Given the description of an element on the screen output the (x, y) to click on. 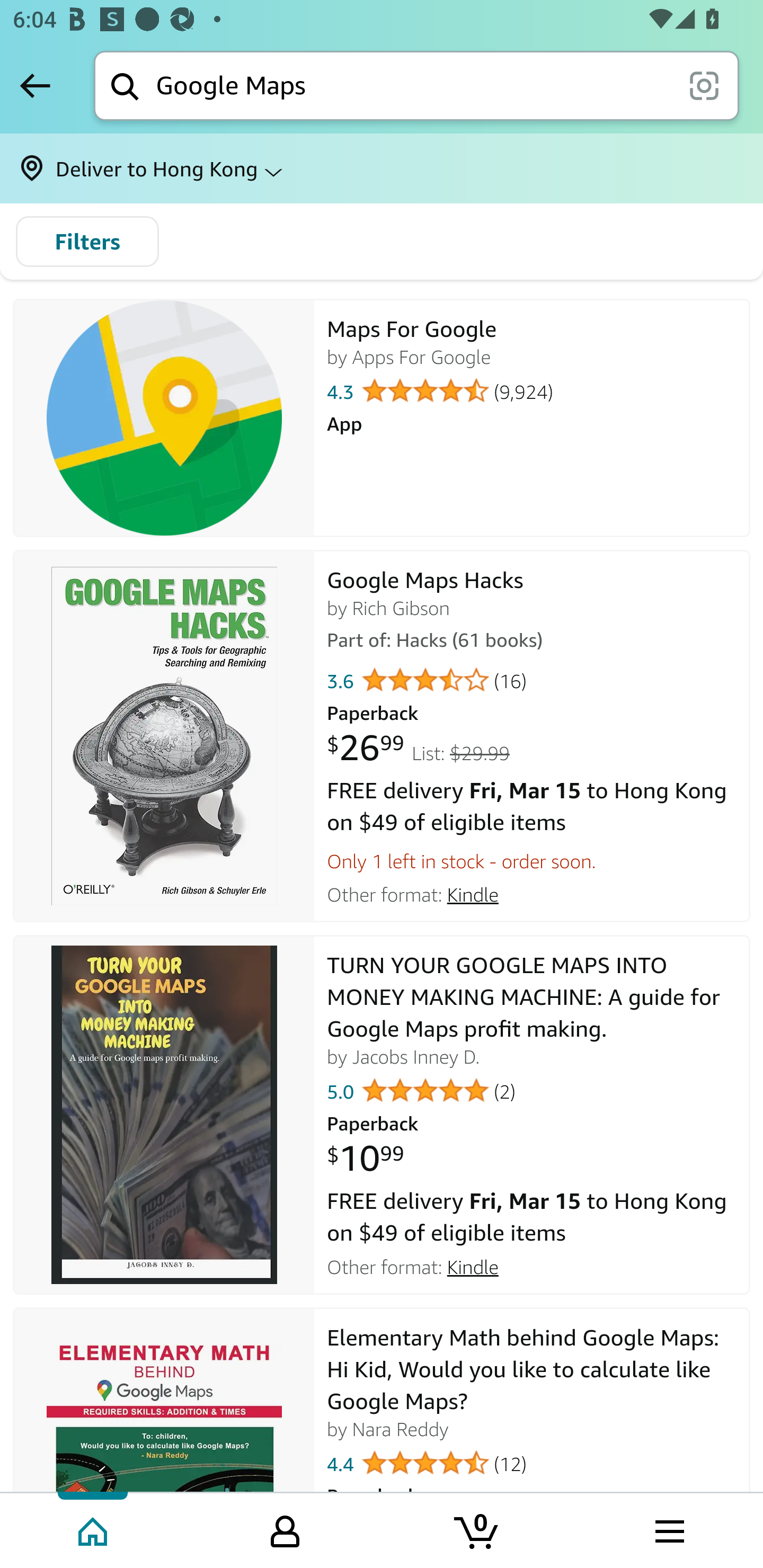
Back (35, 85)
Search Search Google Maps scan it (416, 85)
scan it (704, 85)
Deliver to Hong Kong ⌵ (381, 168)
Filters (87, 241)
Maps For Google (164, 418)
Google Maps Hacks (164, 736)
Home Tab 1 of 4 (94, 1529)
Your Amazon.com Tab 2 of 4 (285, 1529)
Cart 0 item Tab 3 of 4 0 (477, 1529)
Browse menu Tab 4 of 4 (668, 1529)
